Given the description of an element on the screen output the (x, y) to click on. 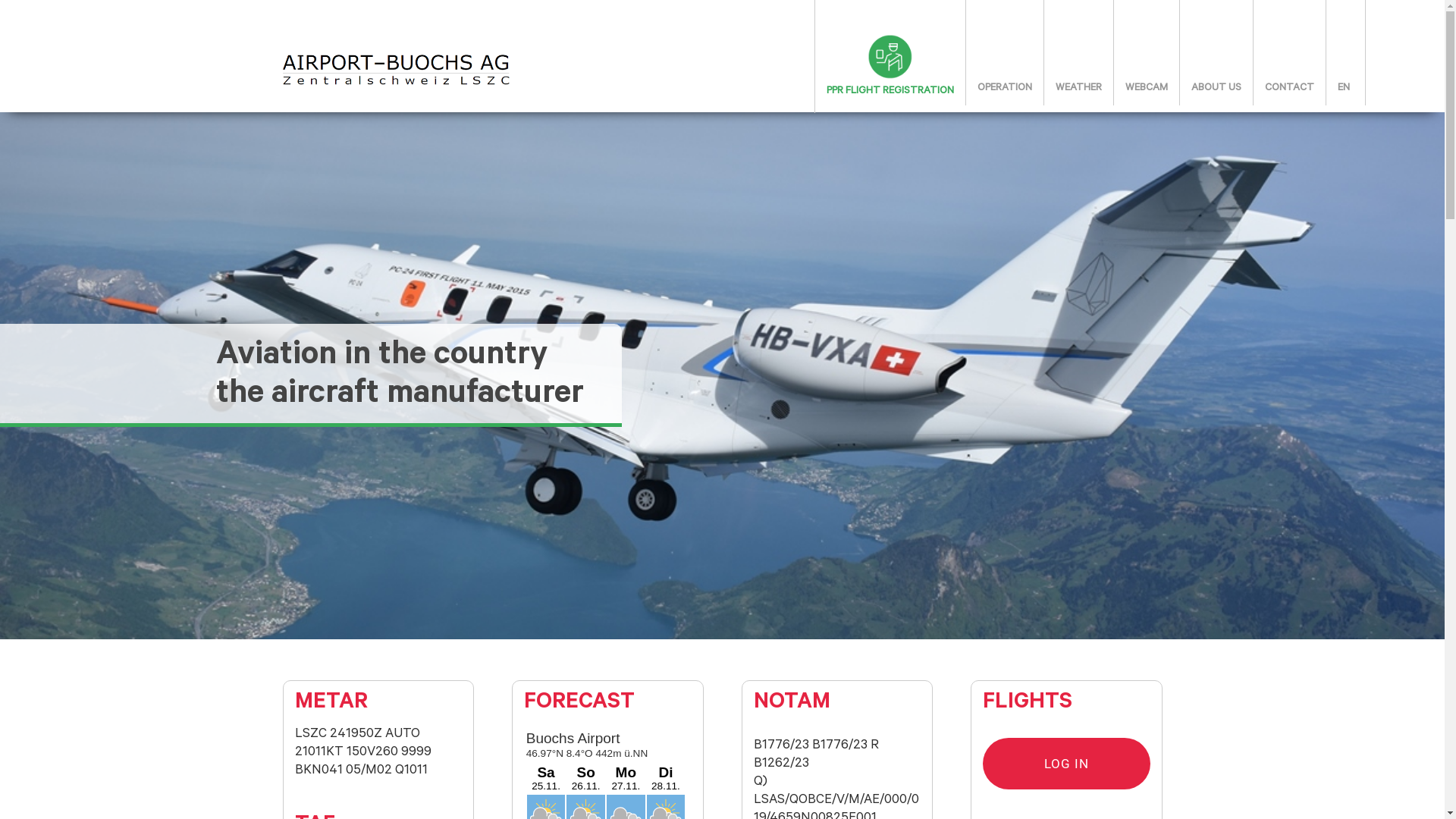
PPR FLIGHT REGISTRATION Element type: text (890, 49)
WEATHER Element type: text (1078, 88)
ABOUT US Element type: text (1215, 88)
WEBCAM Element type: text (1146, 88)
LOG IN Element type: text (1066, 763)
OPERATION Element type: text (1004, 88)
CONTACT Element type: text (1289, 88)
EN Element type: text (1345, 88)
